Given the description of an element on the screen output the (x, y) to click on. 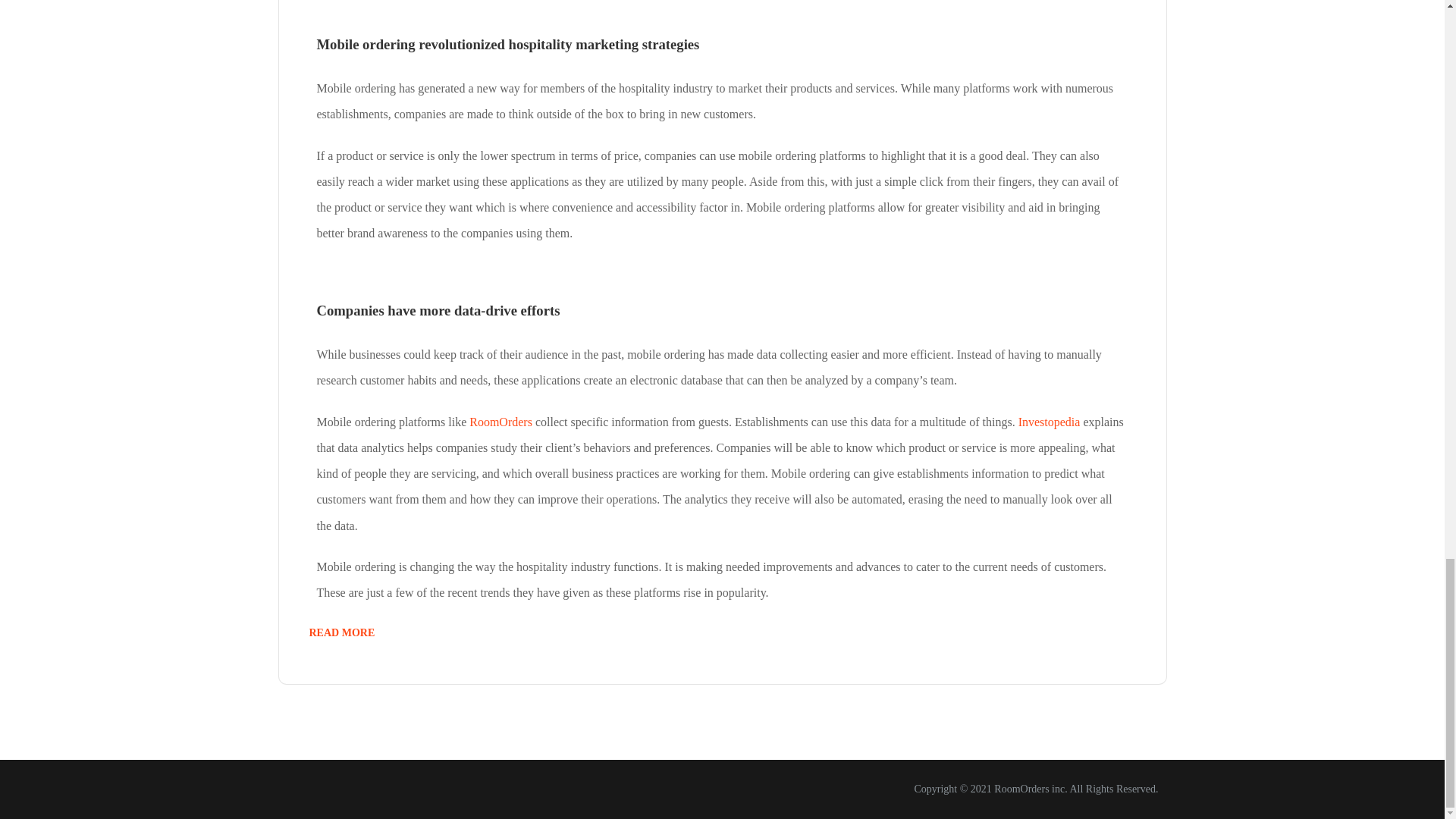
READ MORE (341, 632)
RoomOrders  (501, 421)
Investopedia (1048, 421)
